Given the description of an element on the screen output the (x, y) to click on. 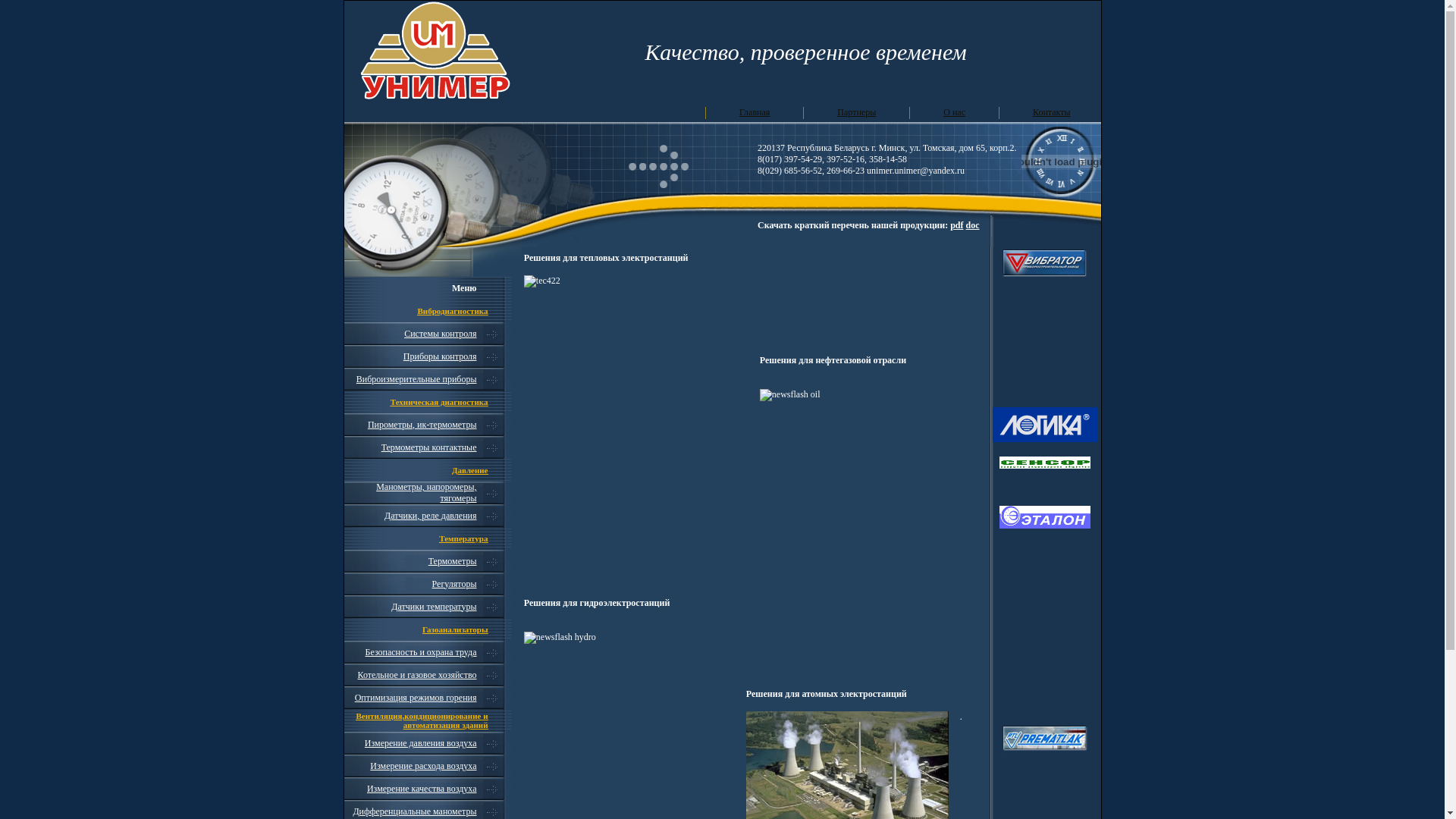
doc Element type: text (972, 224)
pdf Element type: text (956, 224)
